Given the description of an element on the screen output the (x, y) to click on. 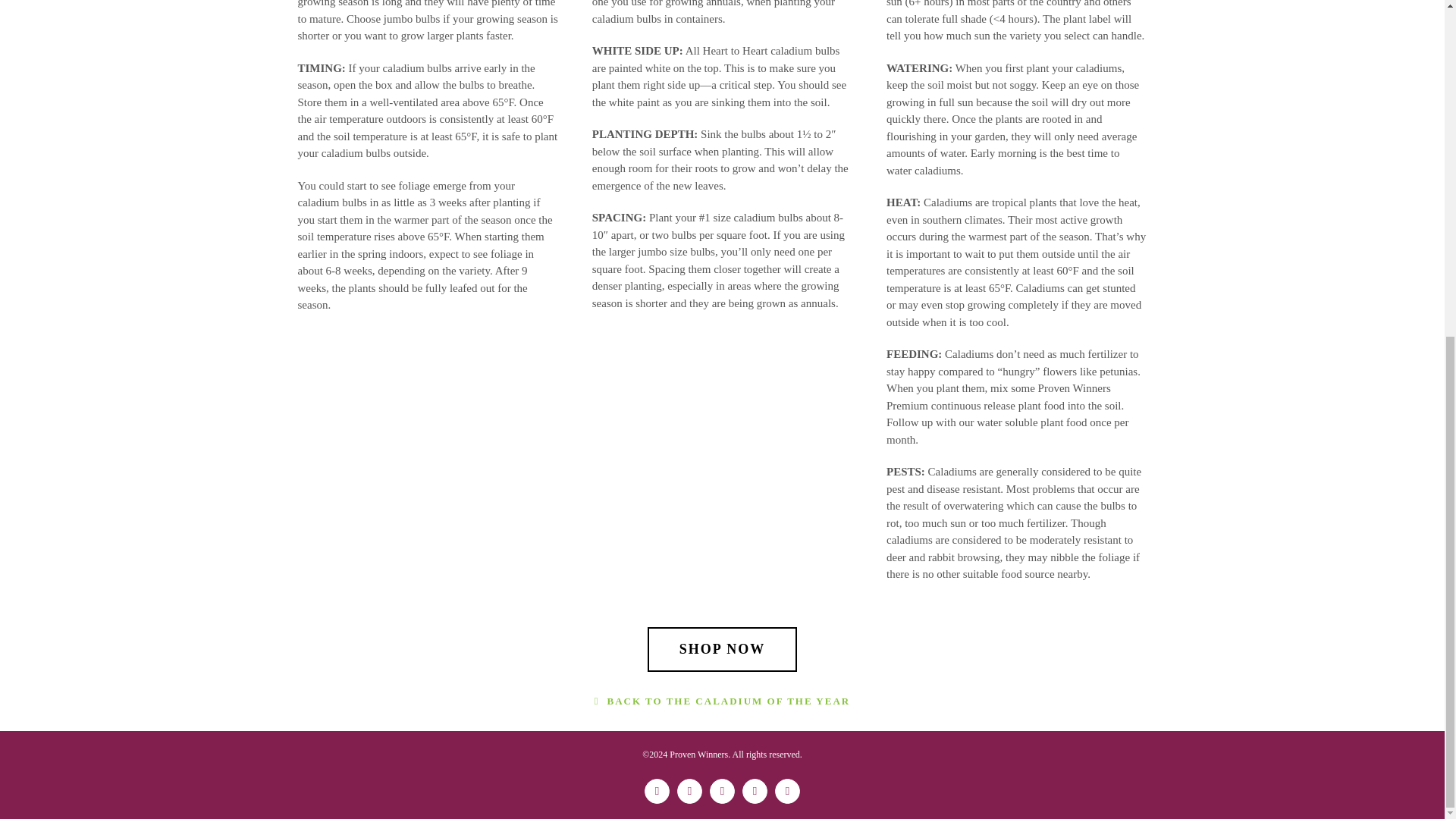
Tiktok (754, 790)
Twitter (689, 790)
Instagram (722, 790)
YouTube (786, 790)
Facebook (657, 790)
